Given the description of an element on the screen output the (x, y) to click on. 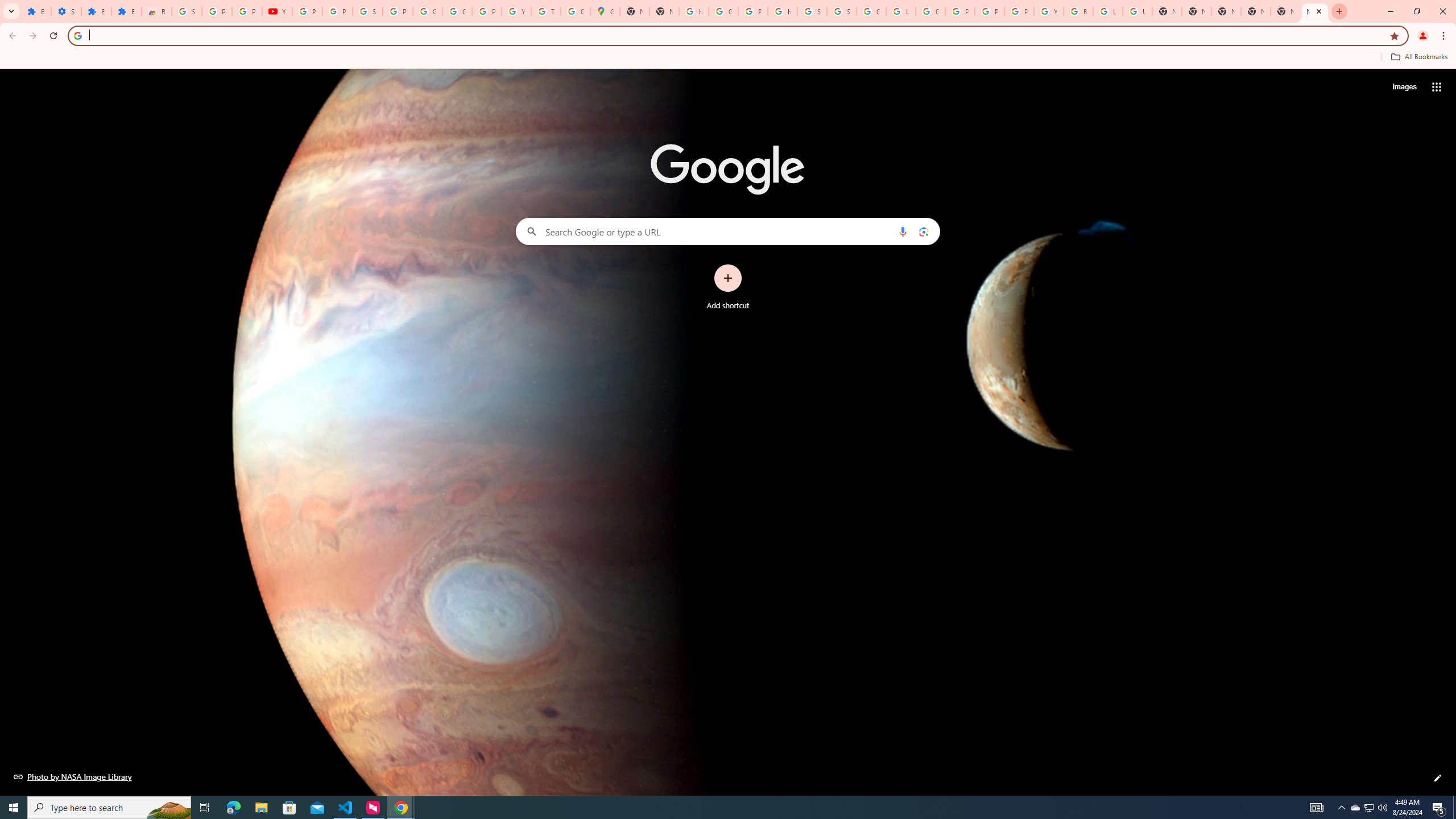
Extensions (36, 11)
